Given the description of an element on the screen output the (x, y) to click on. 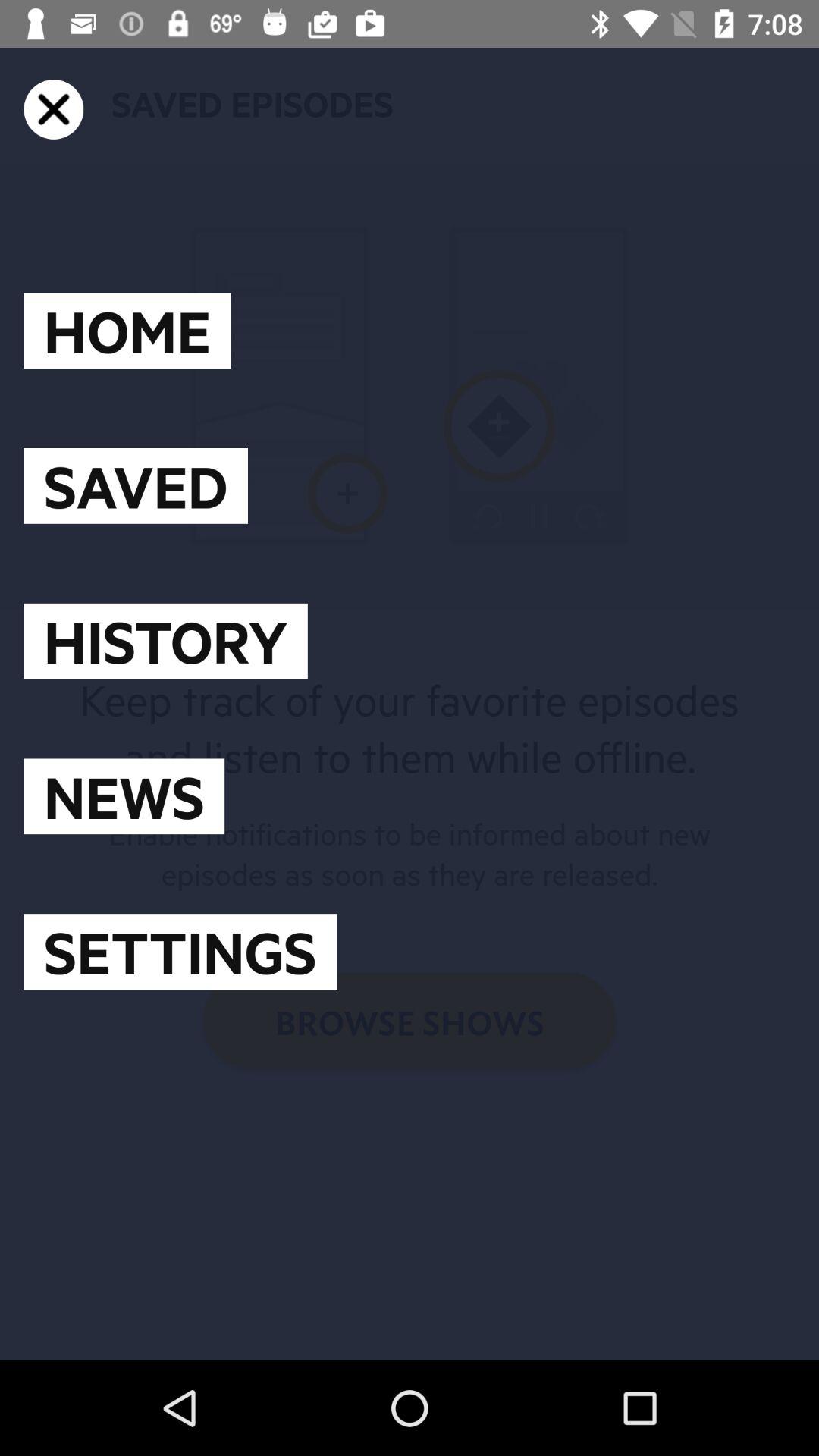
choose icon above settings item (123, 796)
